Given the description of an element on the screen output the (x, y) to click on. 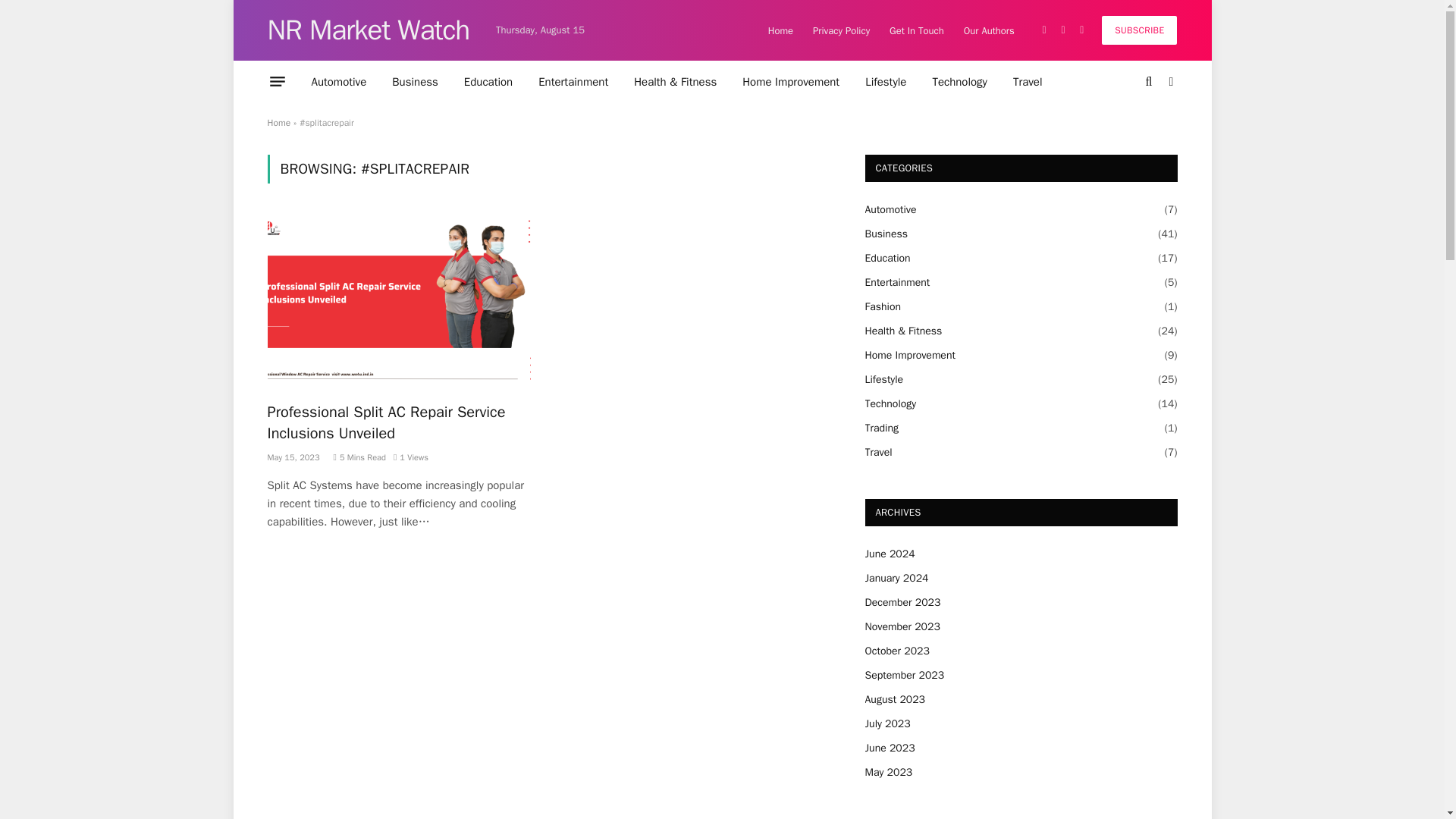
Our Authors (989, 30)
Business (414, 81)
NR Market Watch (367, 30)
Home (277, 122)
Privacy Policy (841, 30)
Professional Split AC Repair Service Inclusions Unveiled (398, 301)
Education (488, 81)
Travel (1027, 81)
Professional Split AC Repair Service Inclusions Unveiled (398, 422)
Home Improvement (790, 81)
